Given the description of an element on the screen output the (x, y) to click on. 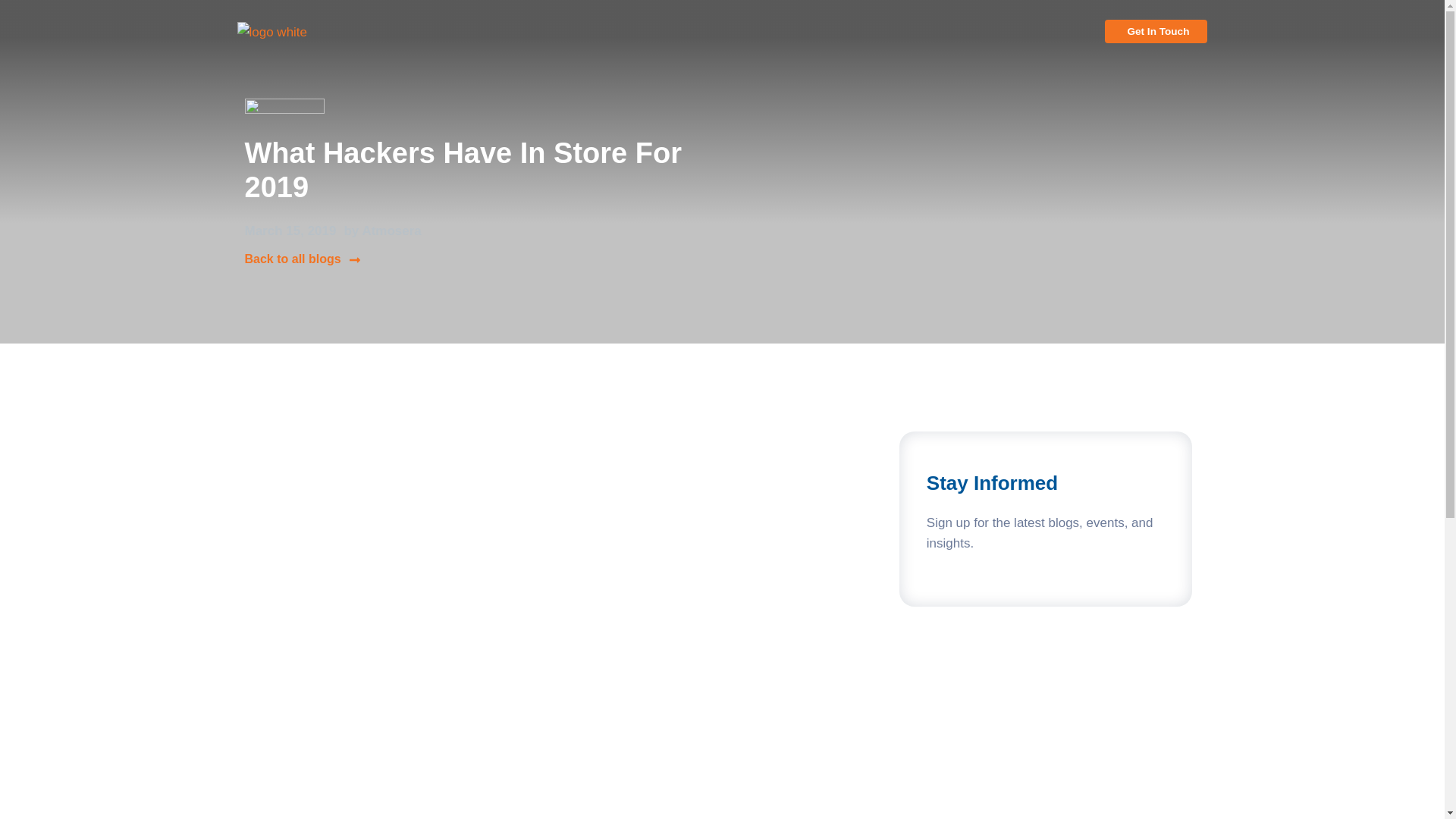
logo white (292, 32)
